Given the description of an element on the screen output the (x, y) to click on. 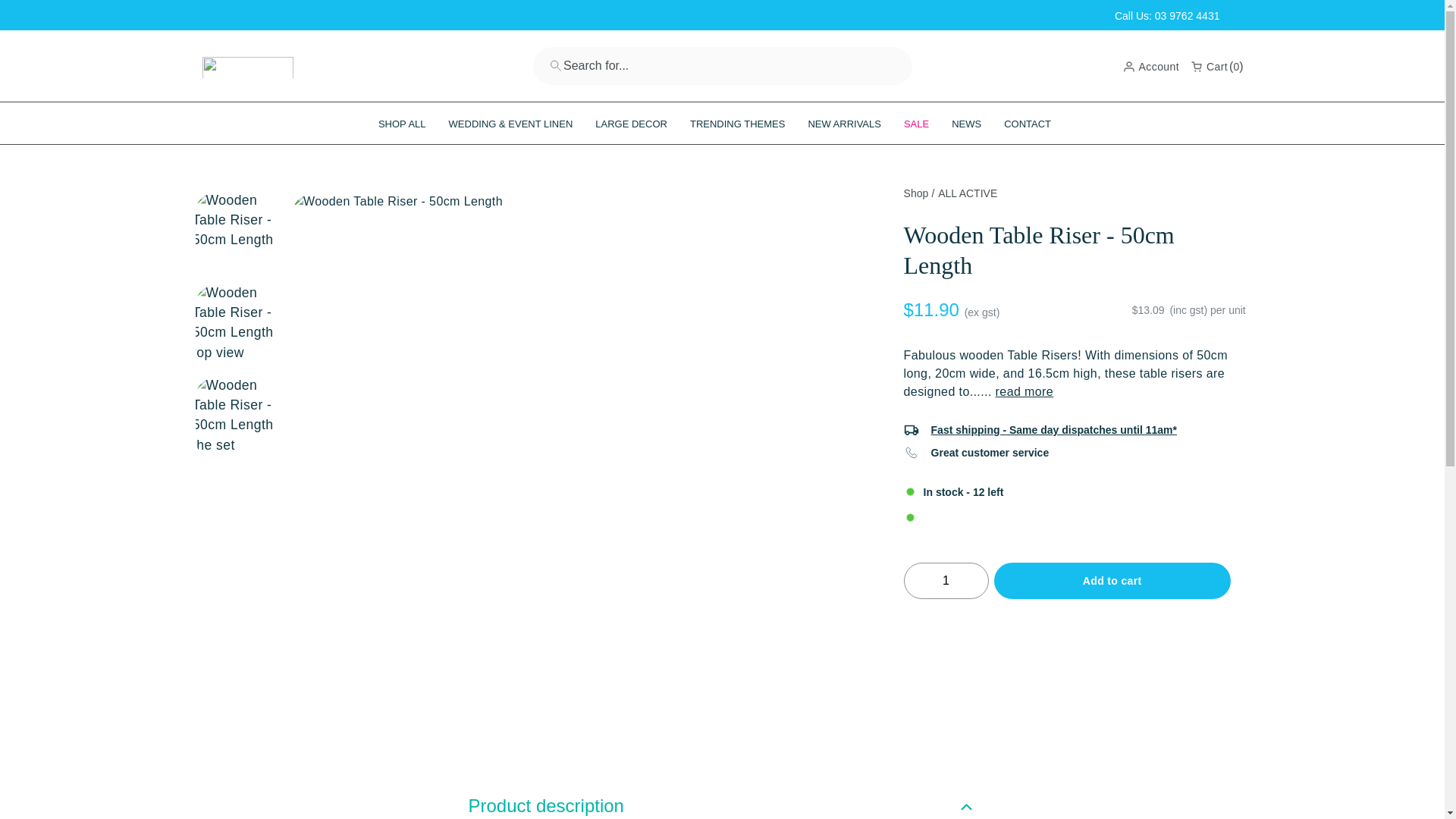
Account (1151, 65)
tel:03 9762 4431 (1167, 15)
Back to the frontpage (916, 193)
1 (946, 580)
Call Us: 03 9762 4431 (1167, 15)
Search (555, 66)
